Given the description of an element on the screen output the (x, y) to click on. 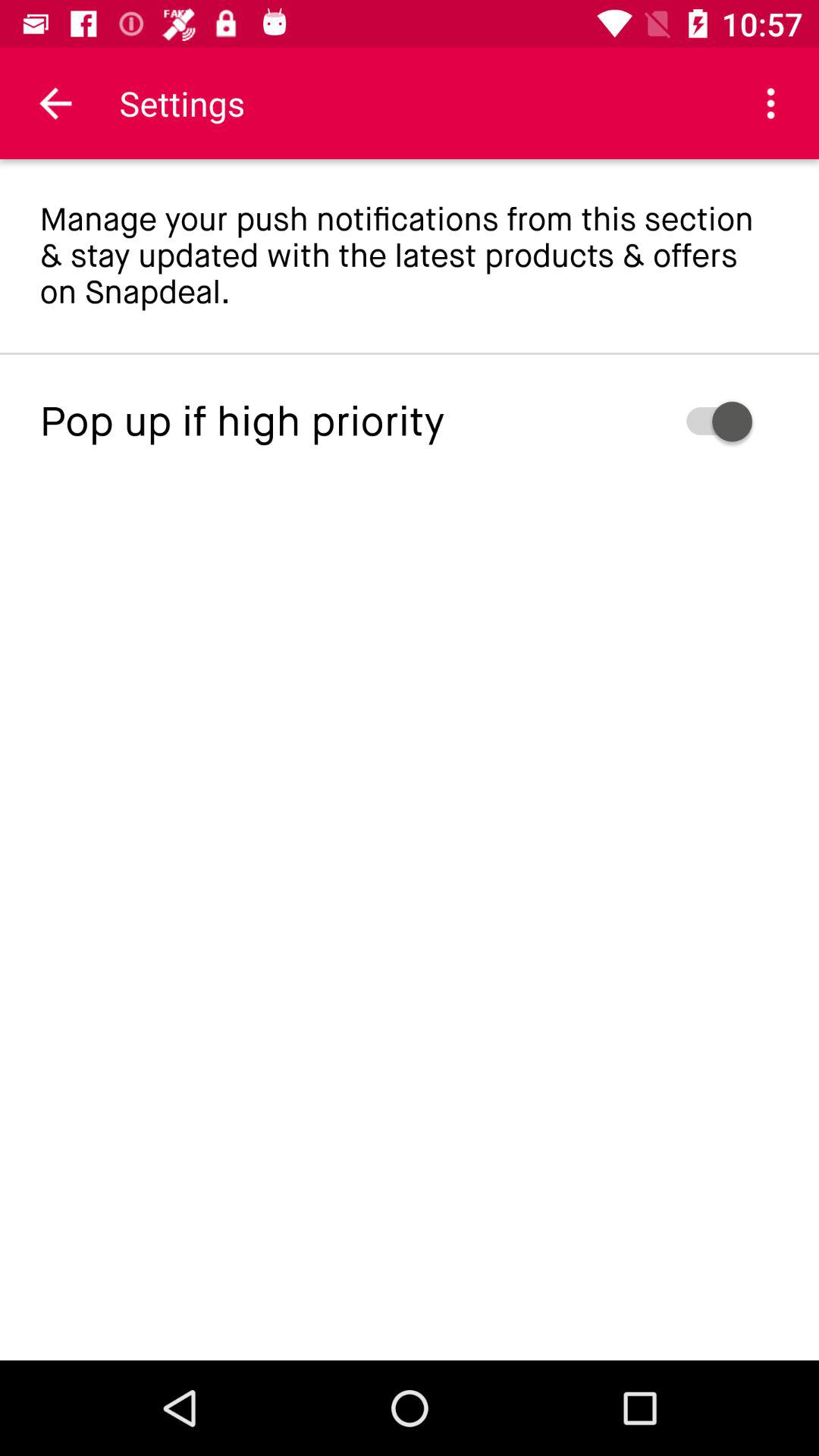
turn off app to the right of the settings item (771, 103)
